Given the description of an element on the screen output the (x, y) to click on. 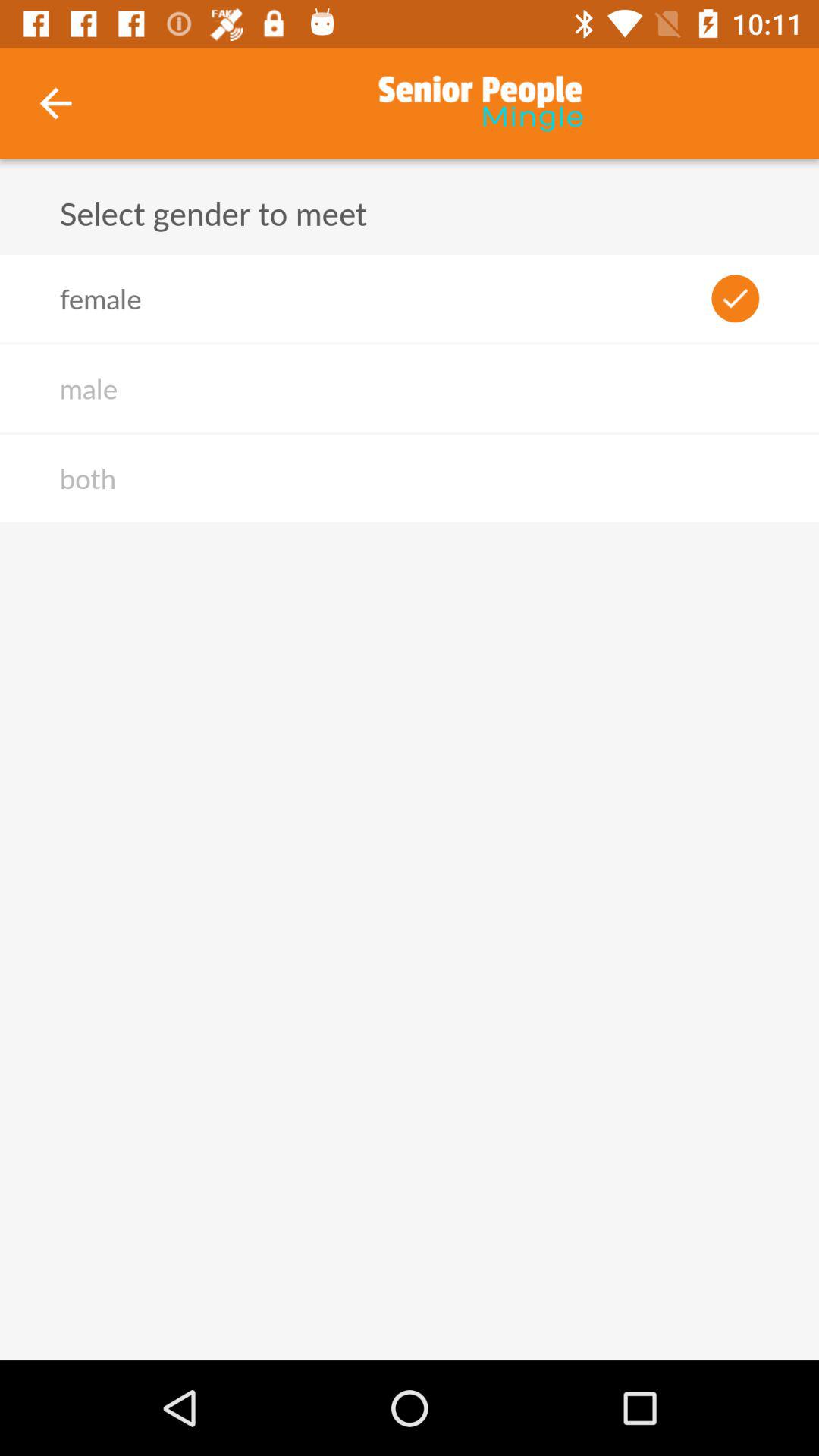
click the icon next to female (734, 298)
